Given the description of an element on the screen output the (x, y) to click on. 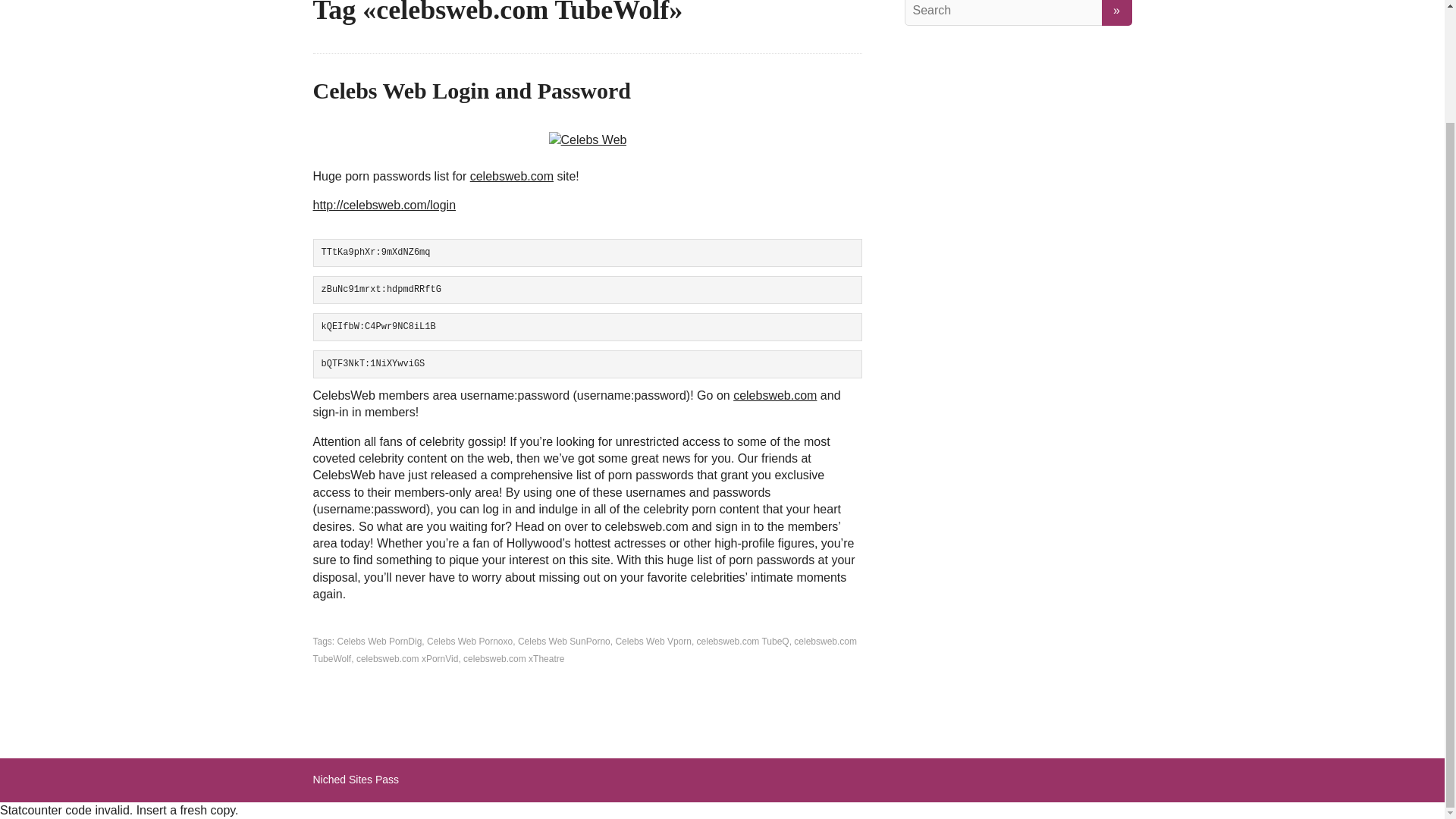
Celebs Web Vporn (652, 641)
celebsweb.com (774, 395)
Celebs Web (587, 139)
Celebs Web Pornoxo (469, 641)
celebsweb.com xTheatre (513, 658)
Celebs Web SunPorno (564, 641)
Celebs Web Login and Password (471, 90)
celebsweb.com xPornVid (407, 658)
Celebs Web PornDig (379, 641)
celebsweb.com TubeQ (743, 641)
Celebs Web Login and Password (471, 90)
celebsweb.com TubeWolf (585, 649)
celebsweb.com (511, 175)
